Given the description of an element on the screen output the (x, y) to click on. 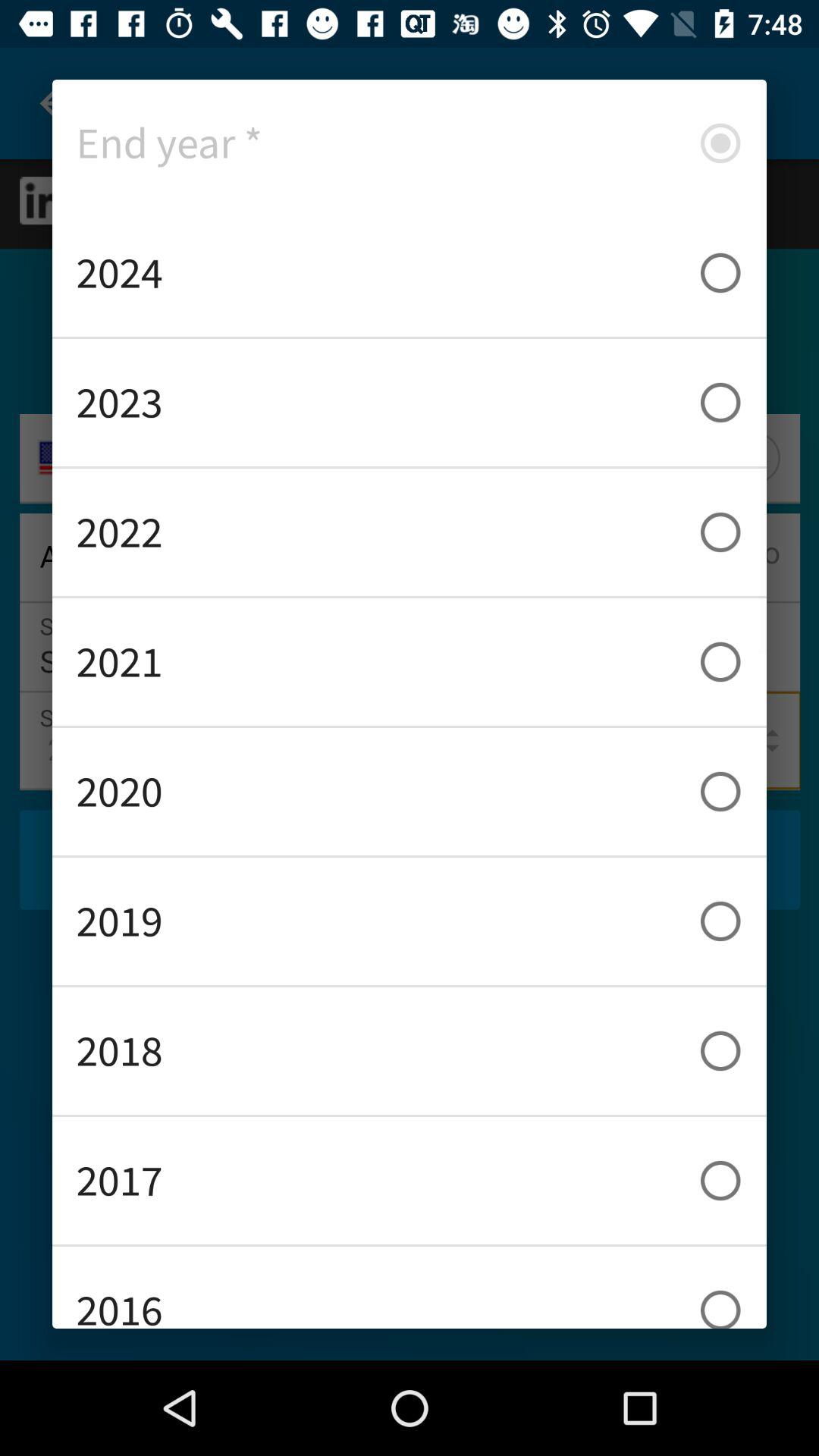
tap the item below the 2022 icon (409, 661)
